Given the description of an element on the screen output the (x, y) to click on. 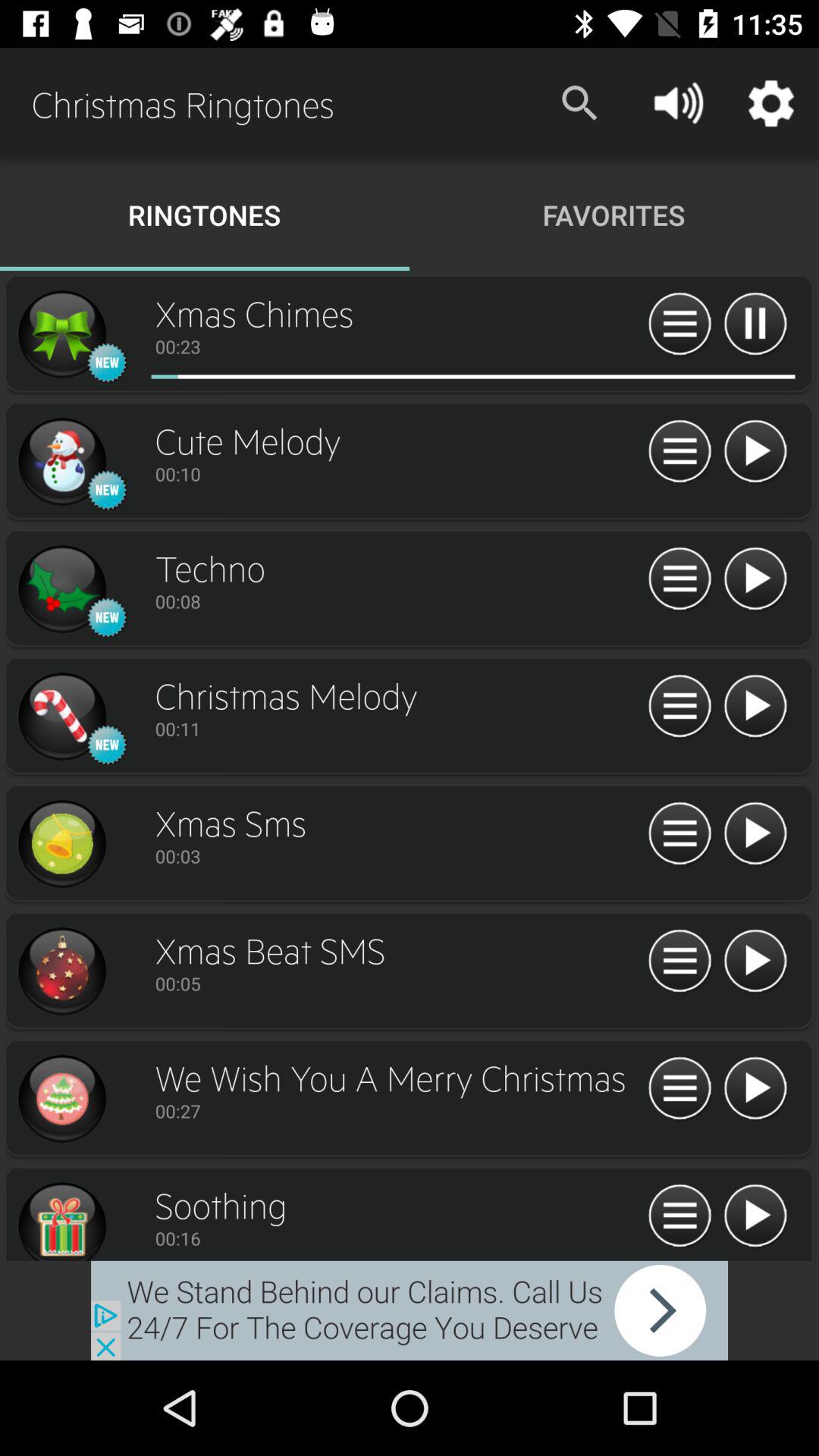
menu button (679, 961)
